Given the description of an element on the screen output the (x, y) to click on. 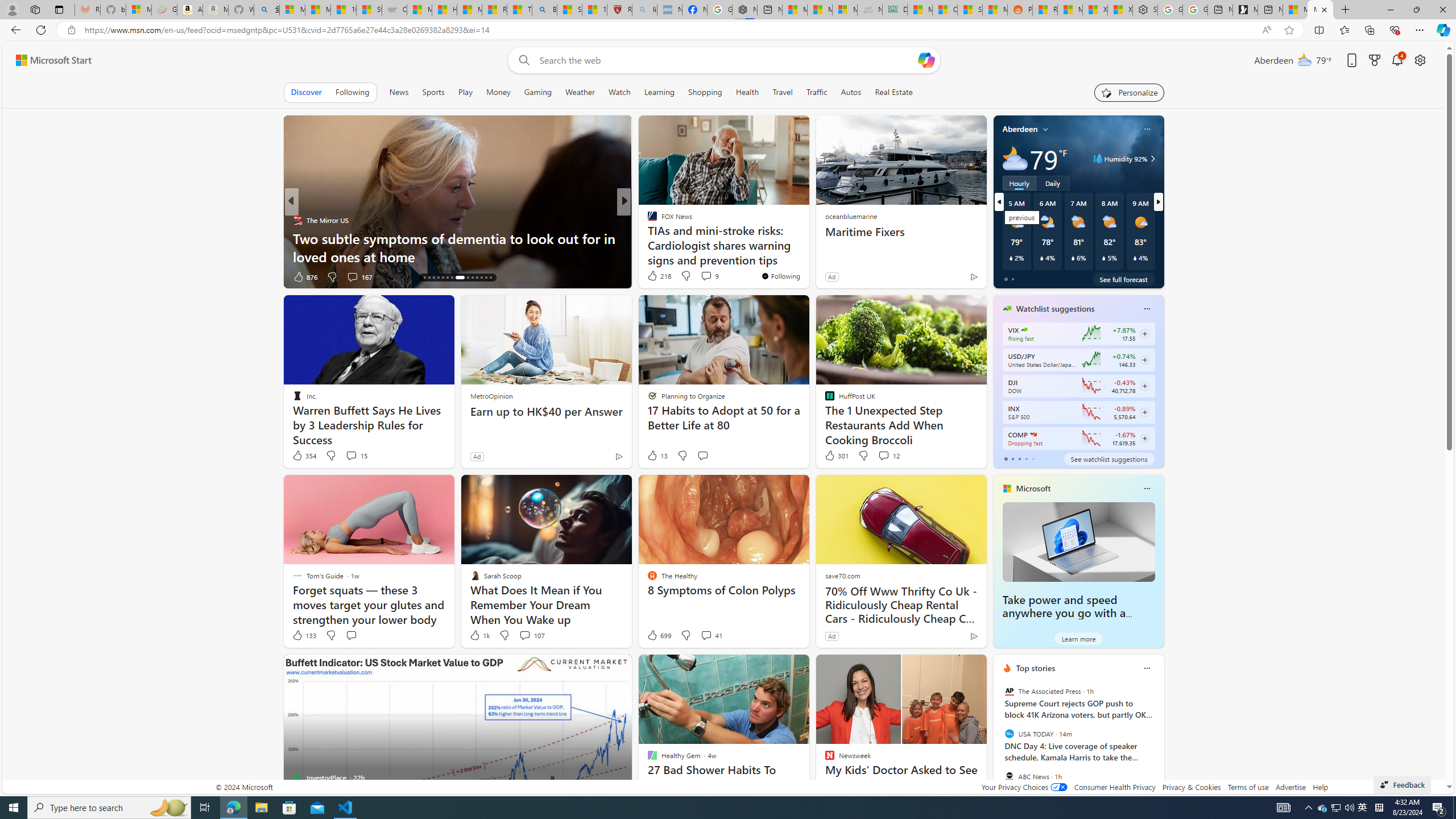
View comments 23 Comment (707, 276)
AutomationID: tab-19 (442, 277)
Health (746, 92)
MarketBeat (647, 238)
View comments 15 Comment (350, 455)
The Hearty Soul (647, 219)
View comments 15 Comment (355, 455)
AutomationID: tab-28 (490, 277)
AutomationID: tab-15 (424, 277)
